Given the description of an element on the screen output the (x, y) to click on. 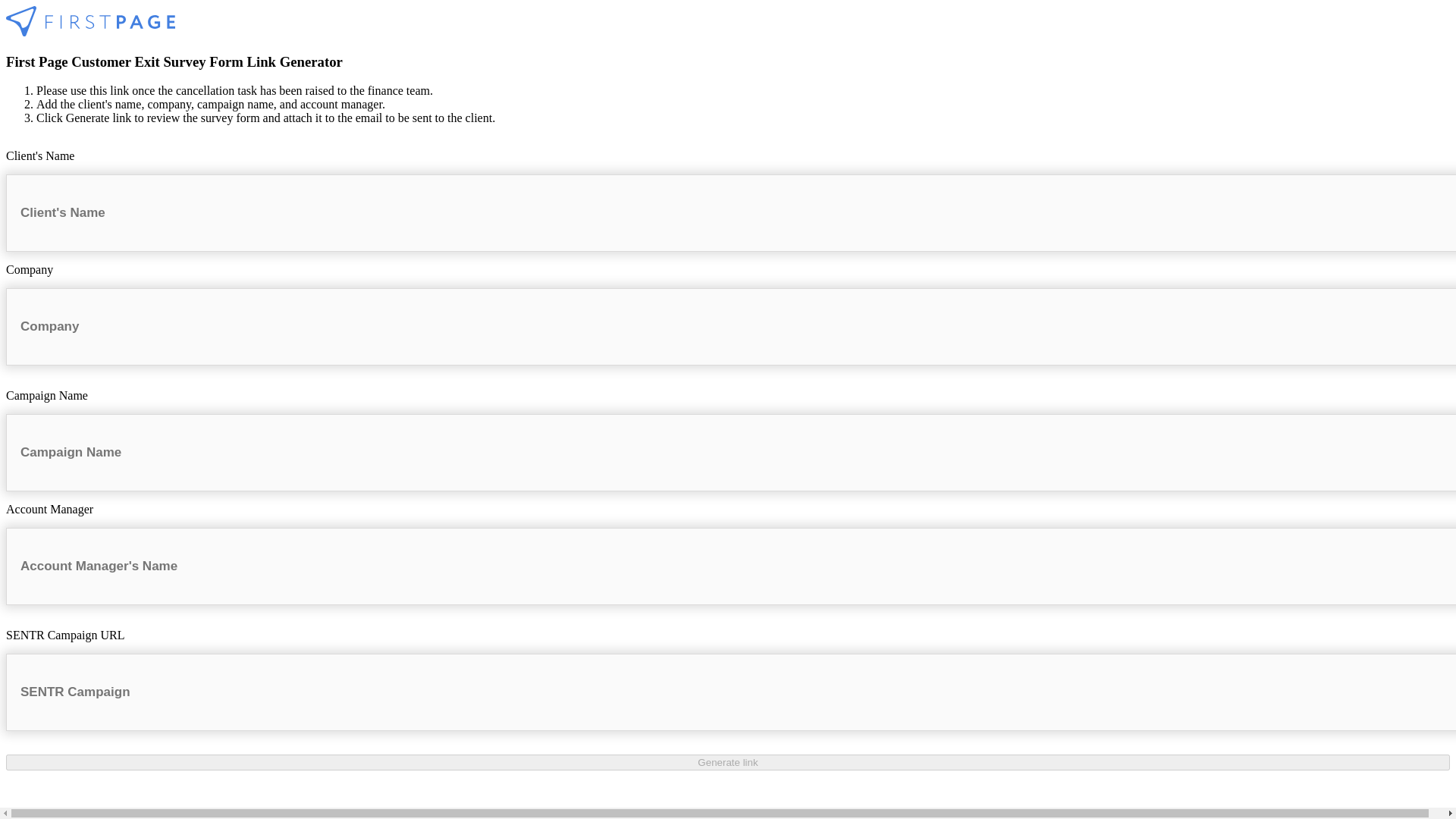
fp-logo-form (89, 20)
